Given the description of an element on the screen output the (x, y) to click on. 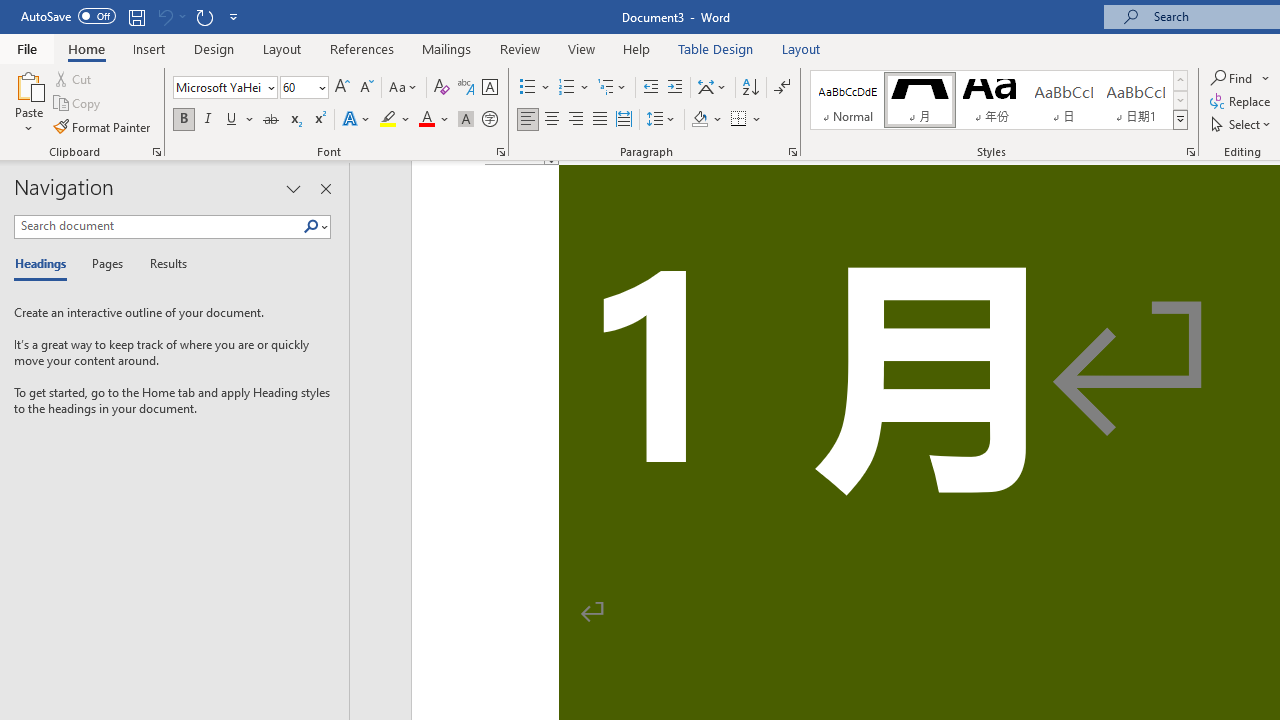
Can't Undo (170, 15)
